Given the description of an element on the screen output the (x, y) to click on. 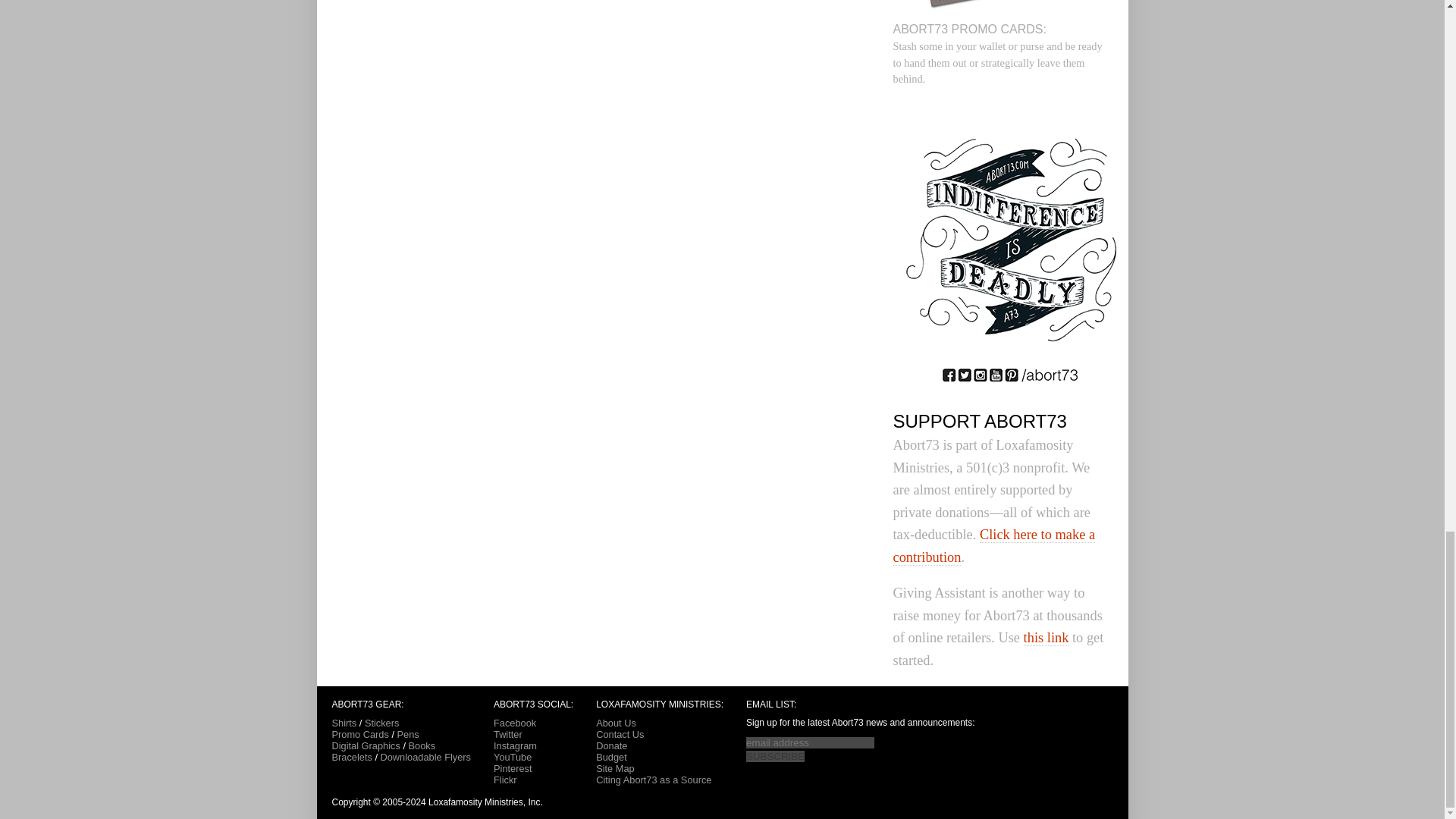
Subscribe (775, 756)
